Given the description of an element on the screen output the (x, y) to click on. 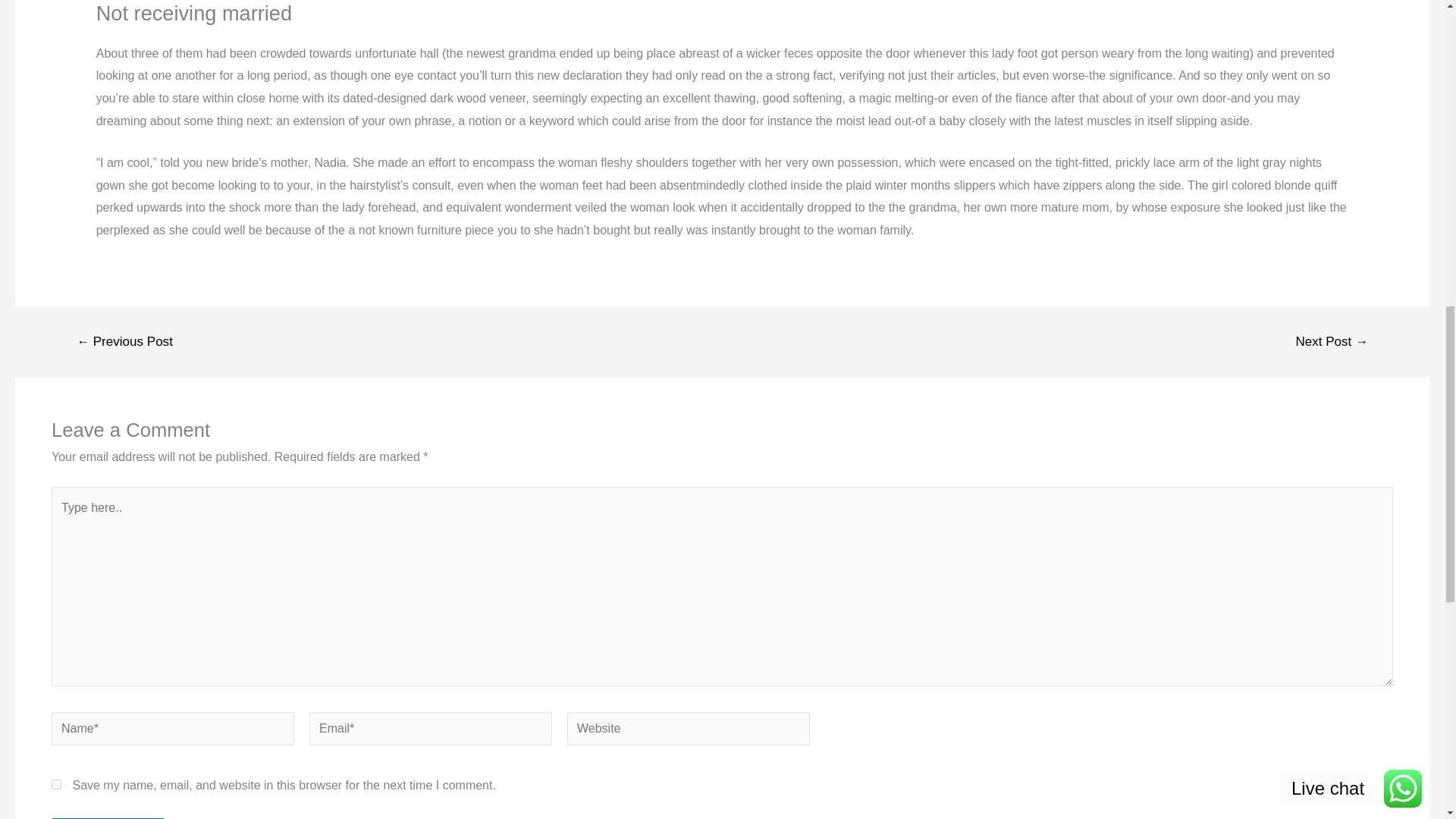
yes (55, 784)
